Given the description of an element on the screen output the (x, y) to click on. 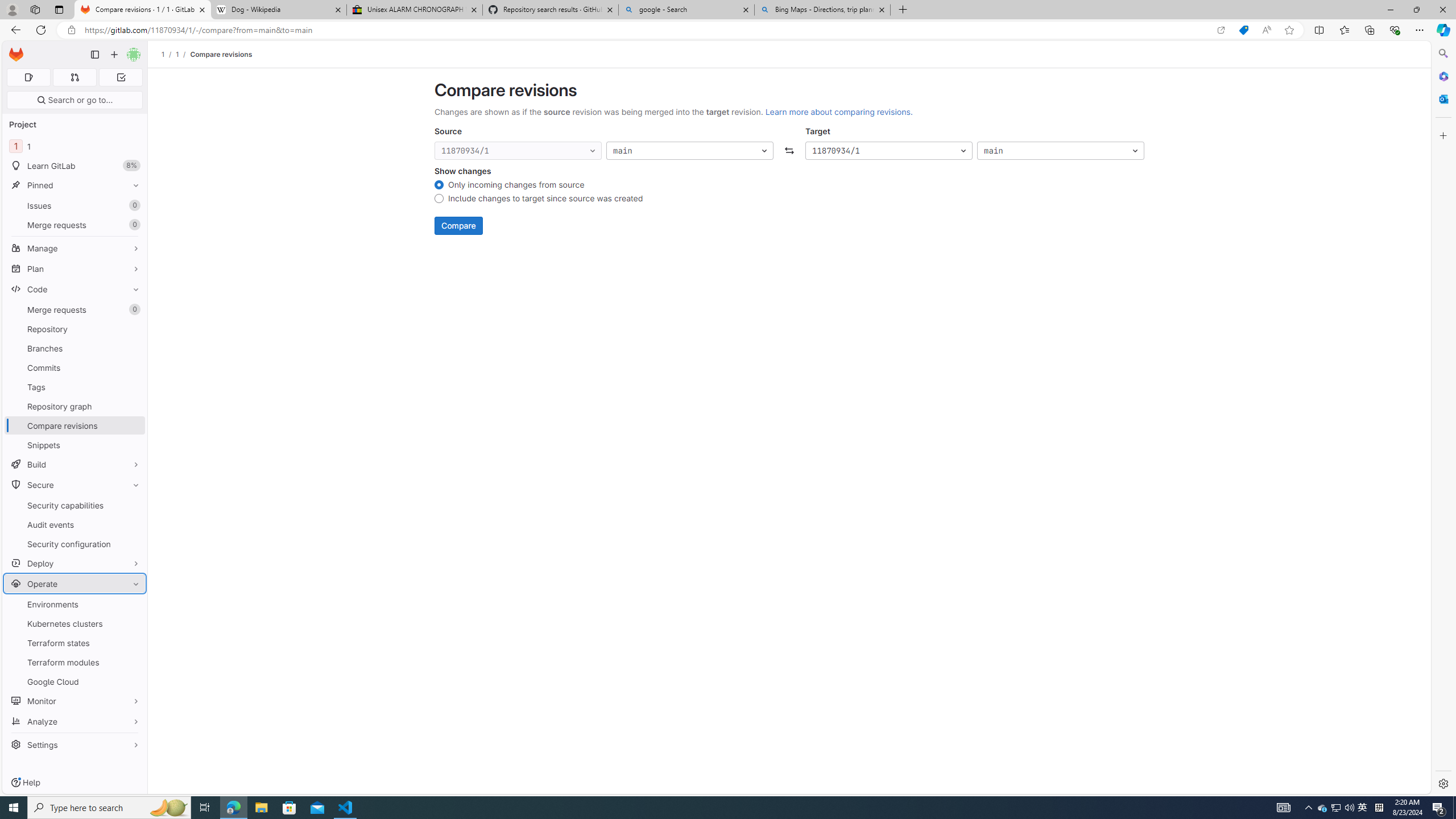
Only incoming changes from source (438, 186)
Monitor (74, 700)
Snippets (74, 444)
Dog - Wikipedia (277, 9)
Environments (74, 603)
Build (74, 464)
Environments (74, 603)
Google Cloud (74, 681)
To-Do list 0 (120, 76)
Create new... (113, 54)
